Given the description of an element on the screen output the (x, y) to click on. 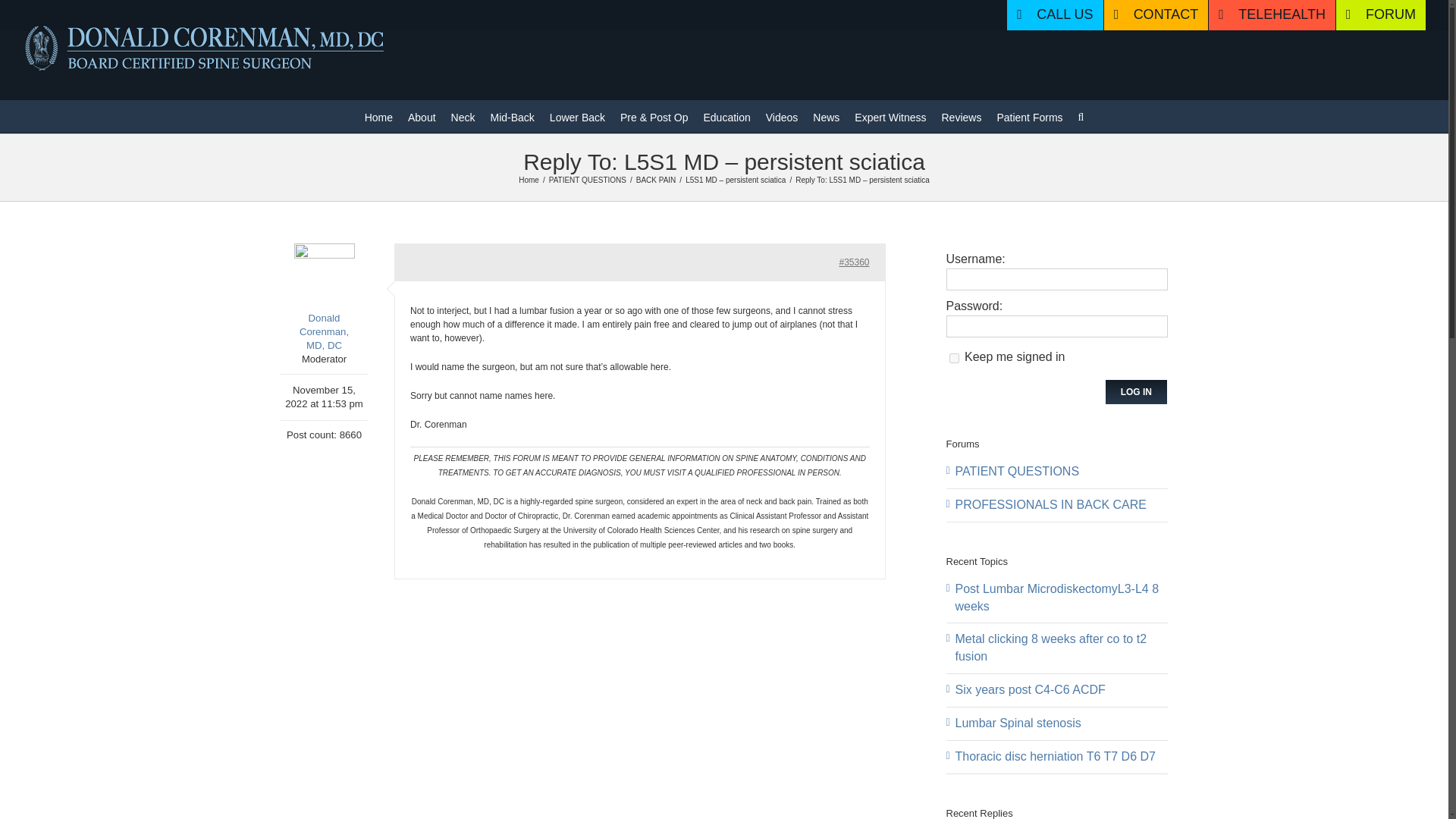
TELEHEALTH (1271, 15)
FORUM (1380, 15)
Patient Forms (1028, 115)
Lower Back (577, 115)
CALL US (1054, 15)
Reviews (961, 115)
Education (727, 115)
Mid-Back (511, 115)
CONTACT (1155, 15)
Expert Witness (890, 115)
Videos (781, 115)
